Given the description of an element on the screen output the (x, y) to click on. 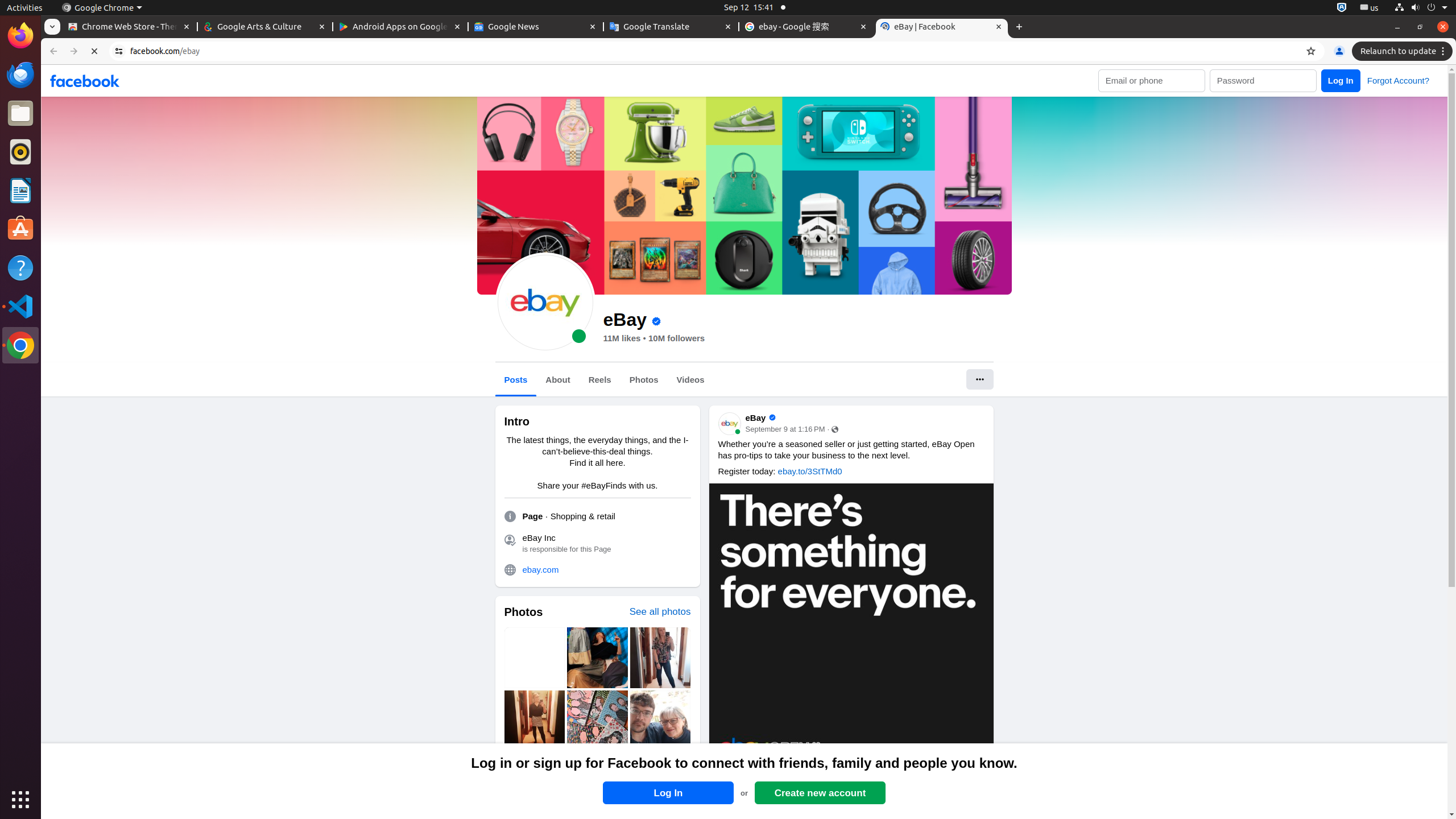
Love: 7 people Element type: push-button (734, 779)
Verified Element type: push-button (655, 321)
Create new account Element type: link (819, 792)
s e r d o t S n o p 8 6 h   2 a 7 1 P e t g m   1 r i 0 e 4 8 1 Element type: link (785, 429)
LibreOffice Writer Element type: push-button (20, 190)
